Given the description of an element on the screen output the (x, y) to click on. 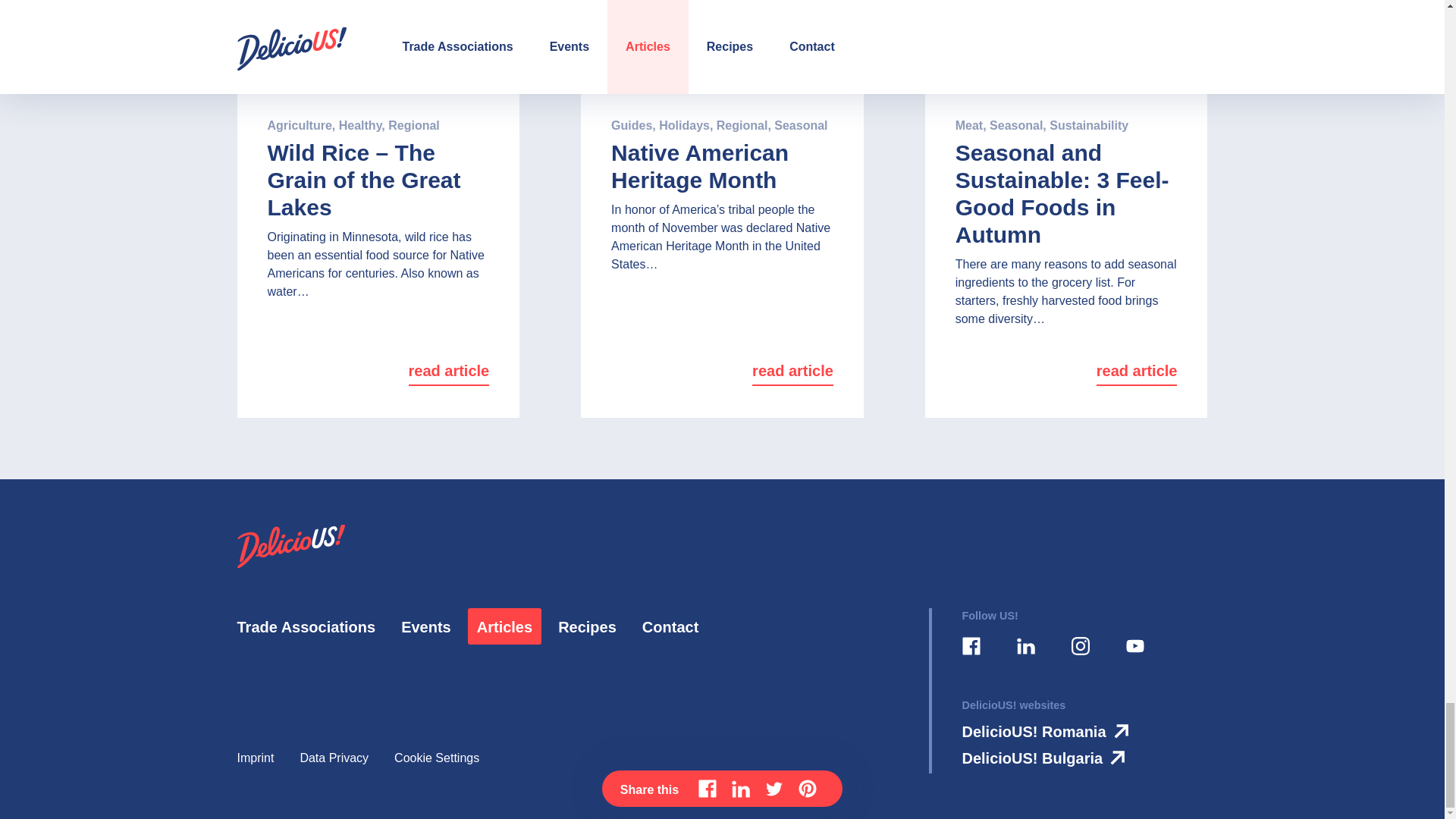
Instagram (1079, 646)
Trade Associations (305, 627)
DelicioUS! Romania (1047, 731)
LinkedIn (1025, 646)
DelicioUS! Bulgaria (1046, 757)
YouTube (1134, 646)
Facebook (970, 646)
